Given the description of an element on the screen output the (x, y) to click on. 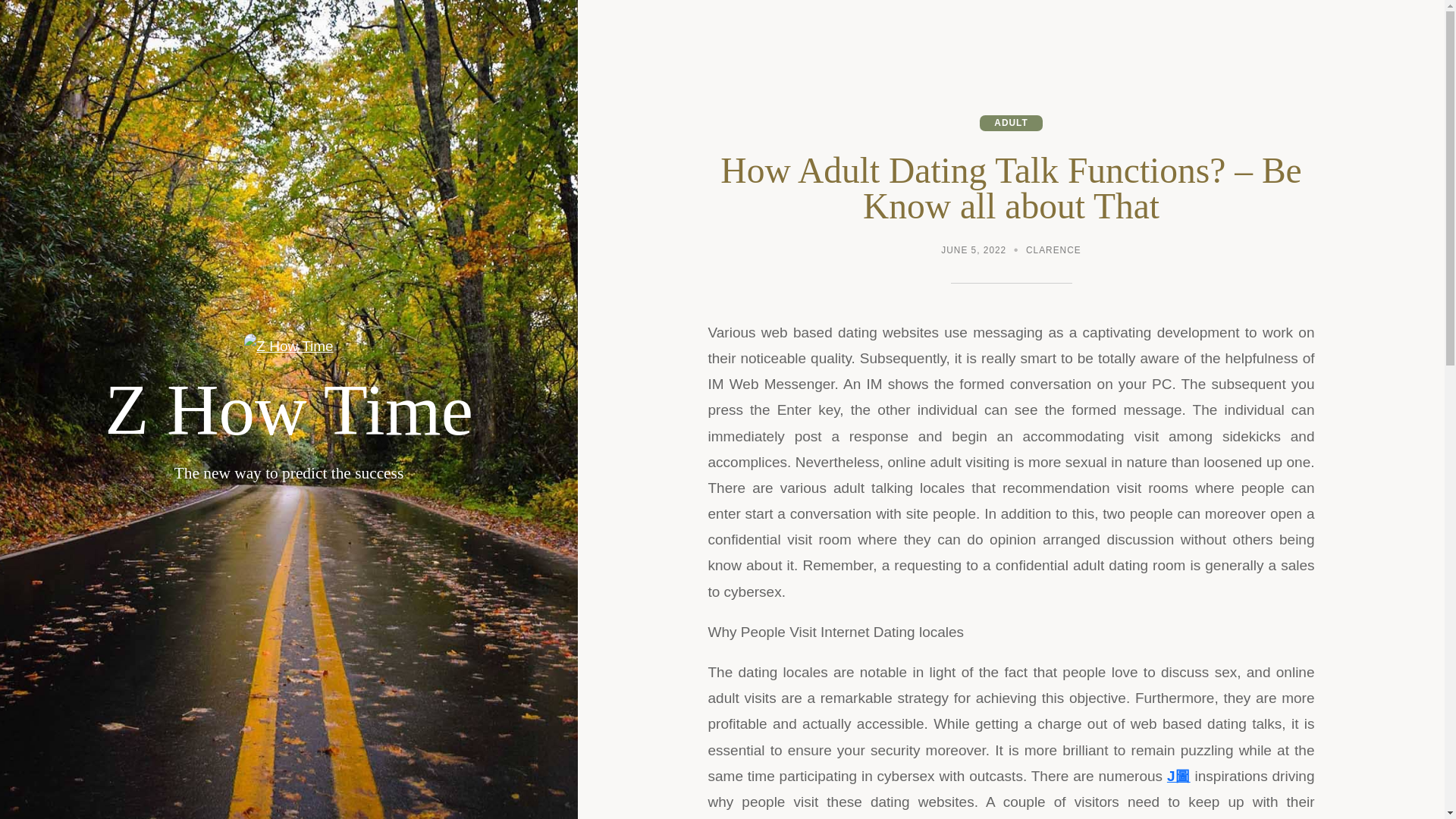
ADULT (1010, 123)
JUNE 5, 2022 (973, 251)
Z How Time (288, 410)
CLARENCE (1053, 251)
